Given the description of an element on the screen output the (x, y) to click on. 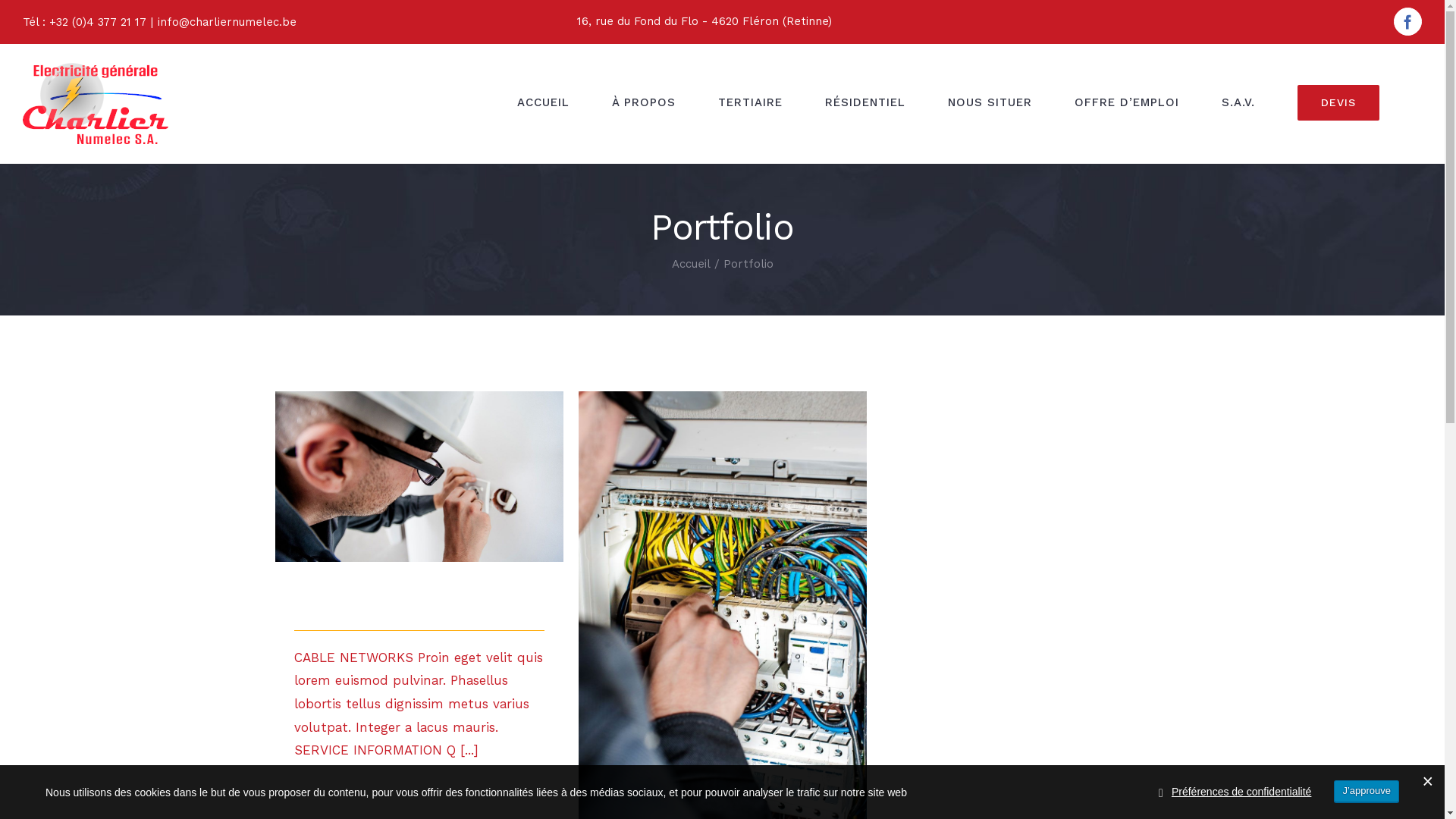
Facebook Element type: text (1407, 21)
ACCUEIL Element type: text (543, 102)
Accueil Element type: text (690, 263)
Cable Networking Element type: text (369, 603)
DEVIS Element type: text (1338, 102)
TERTIAIRE Element type: text (750, 102)
S.A.V. Element type: text (1238, 102)
NOUS SITUER Element type: text (989, 102)
info@charliernumelec.be Element type: text (226, 21)
